Given the description of an element on the screen output the (x, y) to click on. 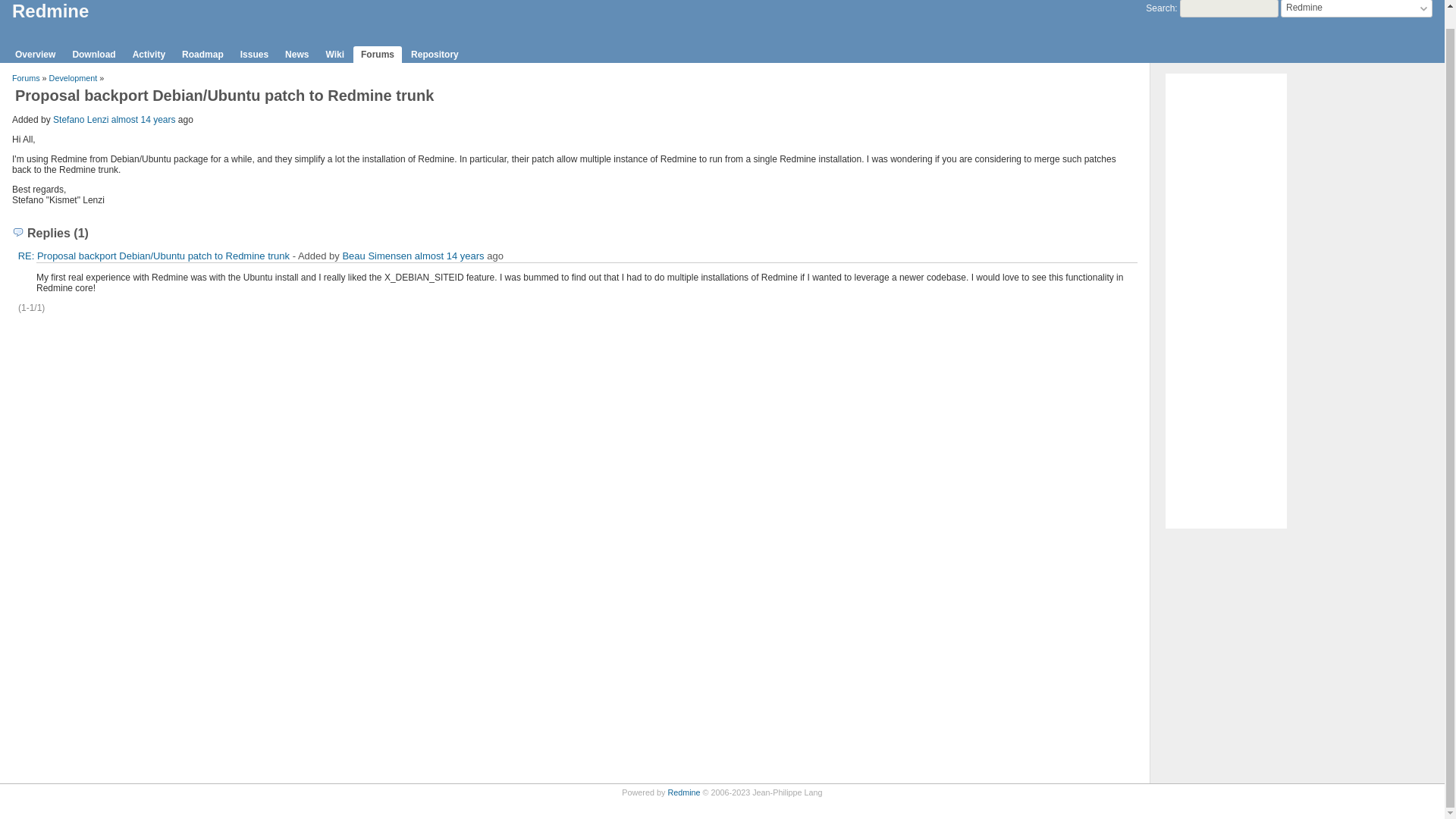
Stefano Lenzi (79, 119)
Search (1159, 8)
Wiki (334, 54)
Roadmap (202, 54)
Forums (377, 54)
Download (93, 54)
Overview (34, 54)
2010-10-27 23:21 (449, 255)
Development (73, 77)
almost 14 years (449, 255)
